Given the description of an element on the screen output the (x, y) to click on. 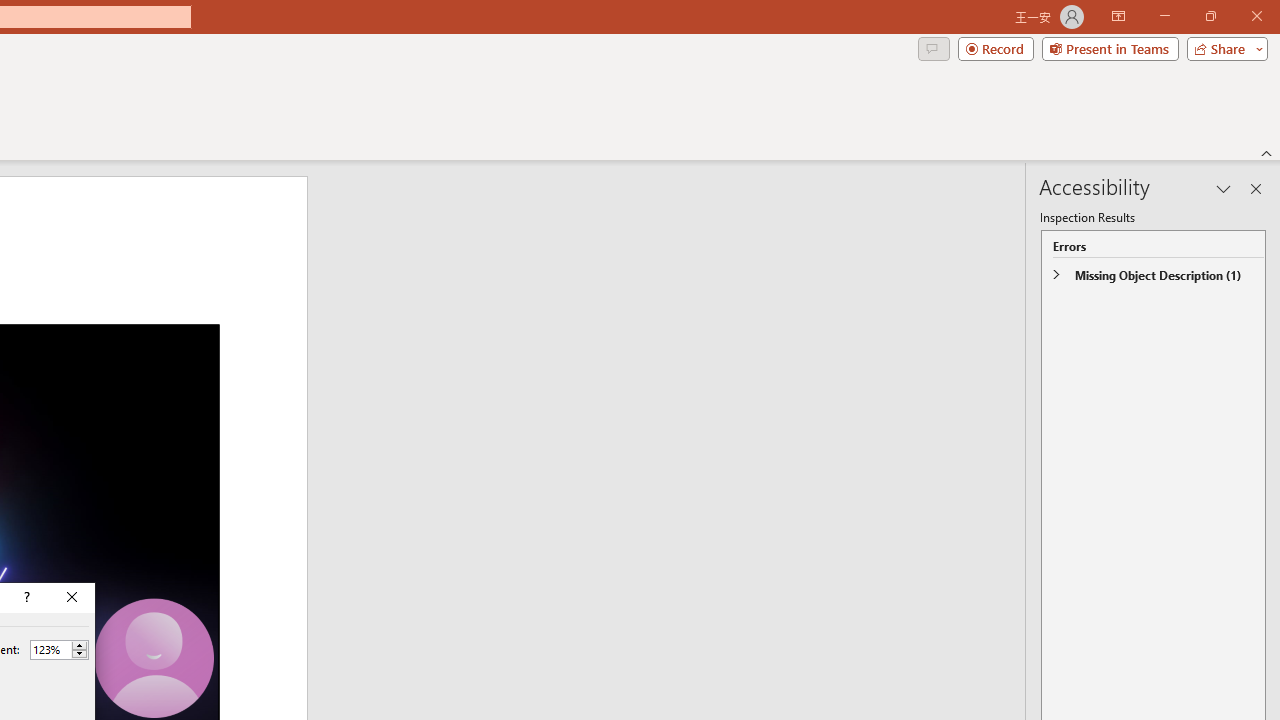
Percent (50, 649)
